Given the description of an element on the screen output the (x, y) to click on. 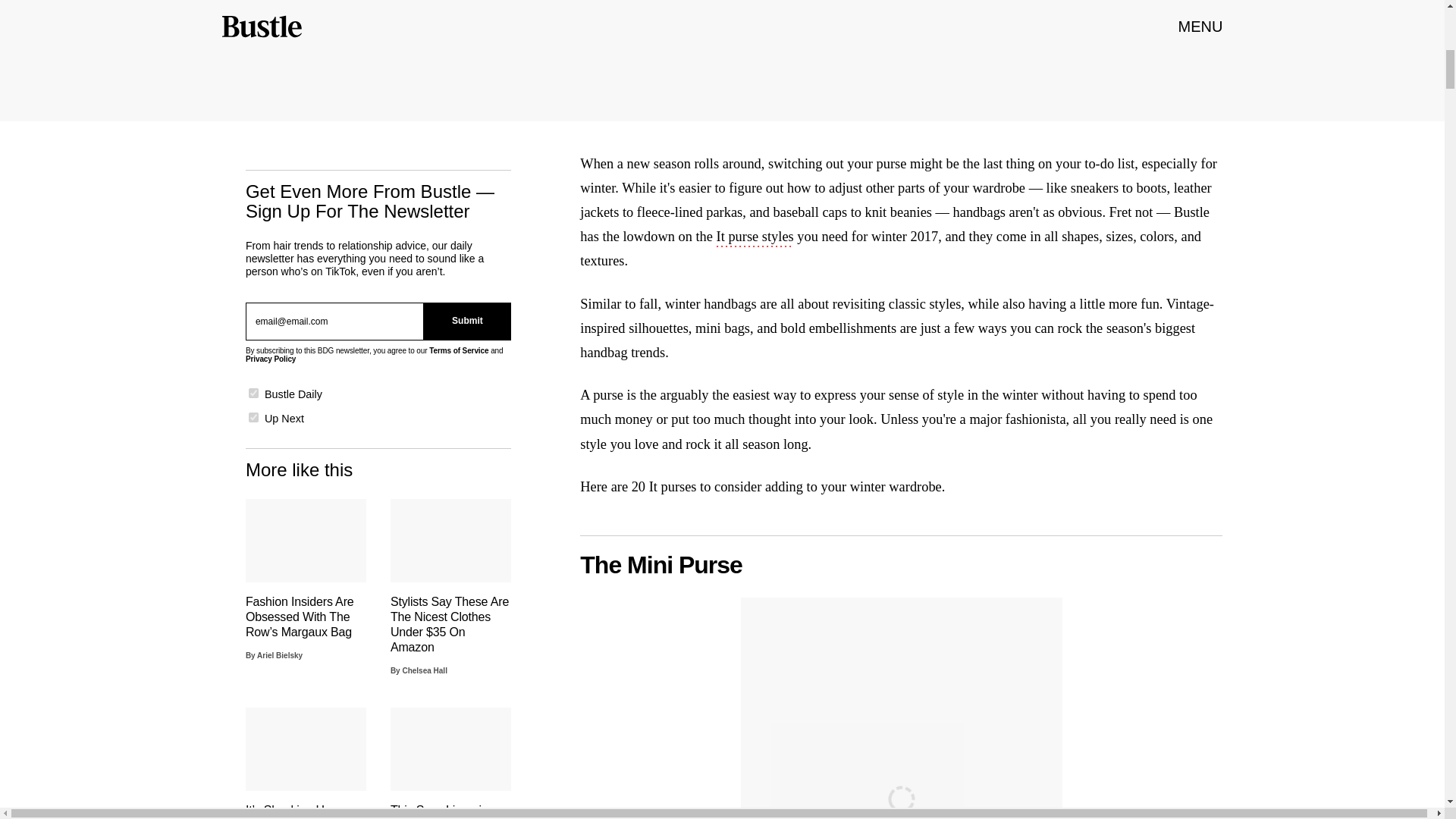
It purse styles (754, 238)
